Given the description of an element on the screen output the (x, y) to click on. 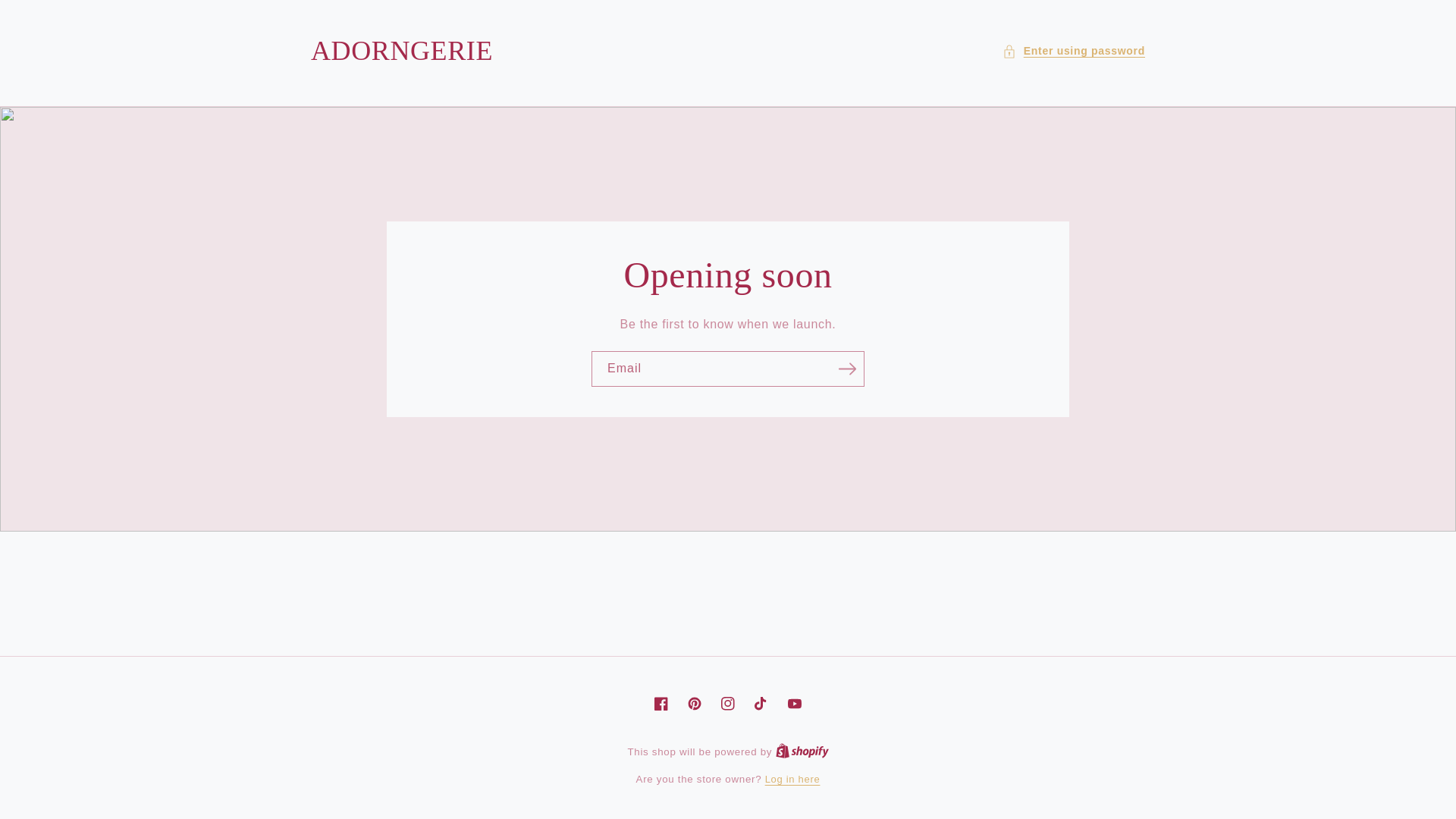
Facebook (661, 703)
TikTok (760, 703)
Skip to content (45, 17)
Log in here (793, 779)
Instagram (727, 703)
Pinterest (694, 703)
YouTube (793, 703)
